Given the description of an element on the screen output the (x, y) to click on. 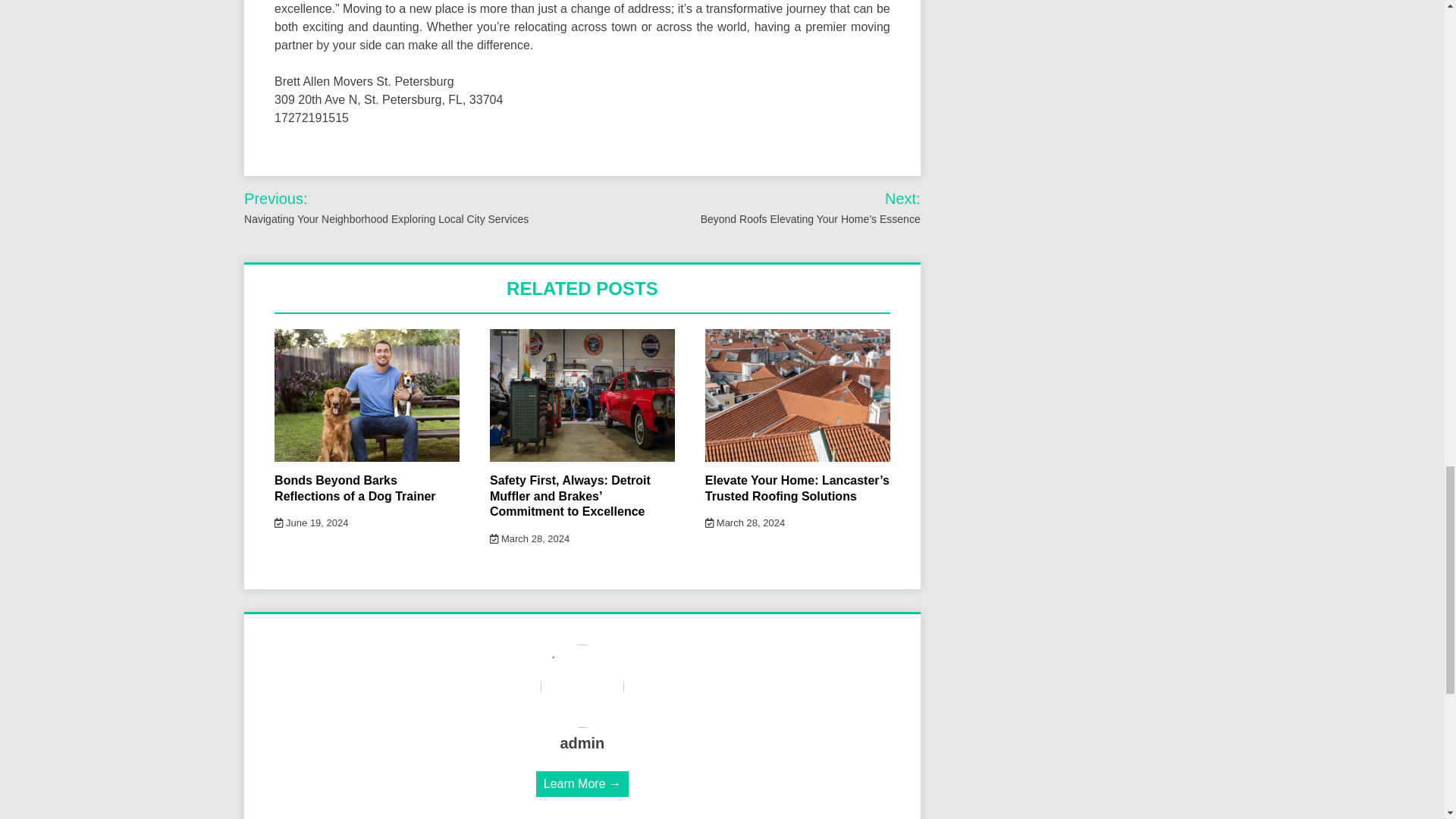
March 28, 2024 (744, 522)
Bonds Beyond Barks Reflections of a Dog Trainer (355, 488)
June 19, 2024 (311, 522)
March 28, 2024 (529, 538)
